Given the description of an element on the screen output the (x, y) to click on. 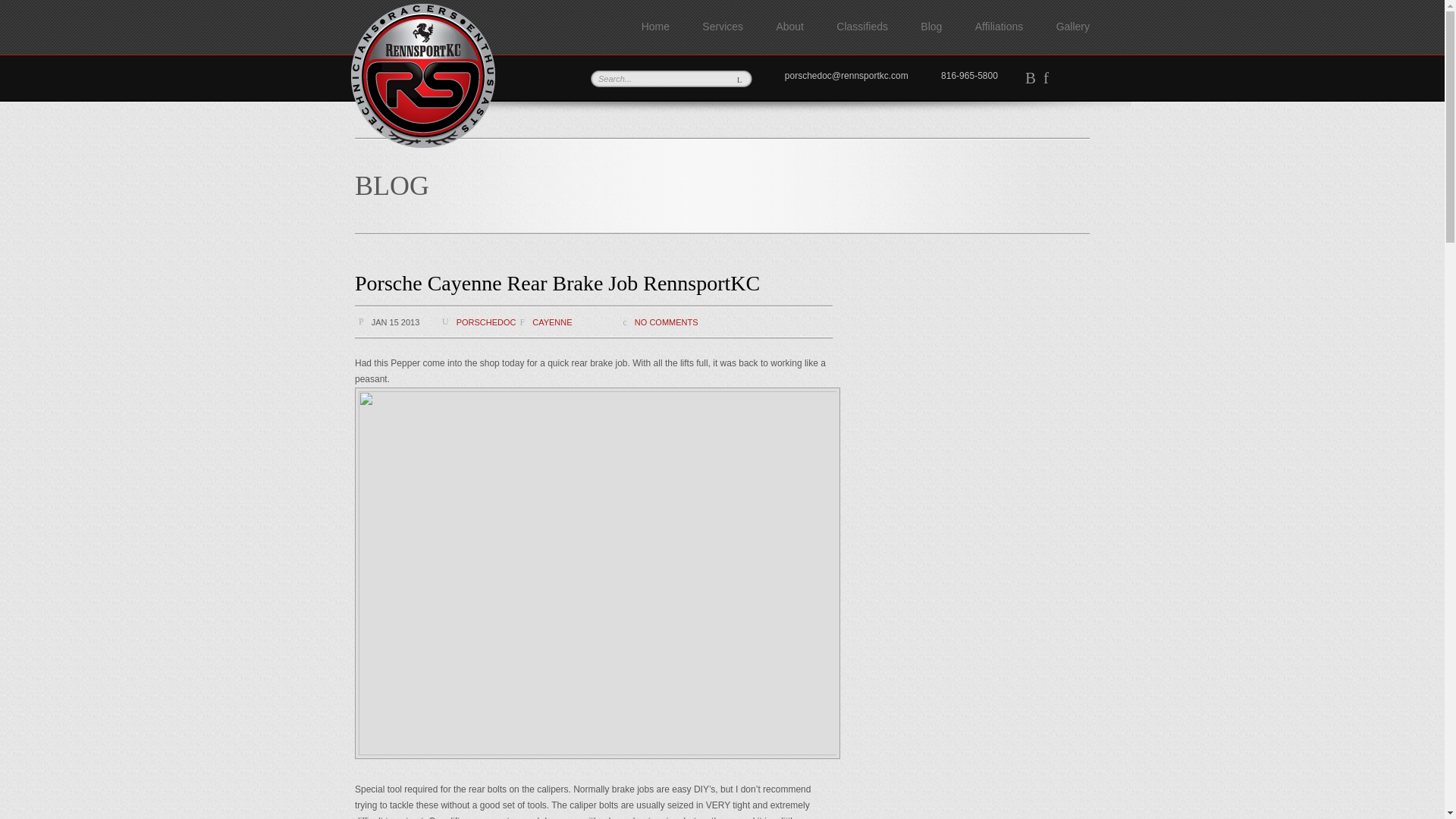
Blog (931, 26)
About (789, 26)
PORSCHEDOC (486, 321)
Classifieds (861, 26)
NO COMMENTS (666, 321)
logo (422, 76)
Home (655, 26)
L (739, 78)
L (739, 78)
Gallery (1073, 26)
Affiliations (999, 26)
Services (721, 26)
CAYENNE (552, 321)
